Given the description of an element on the screen output the (x, y) to click on. 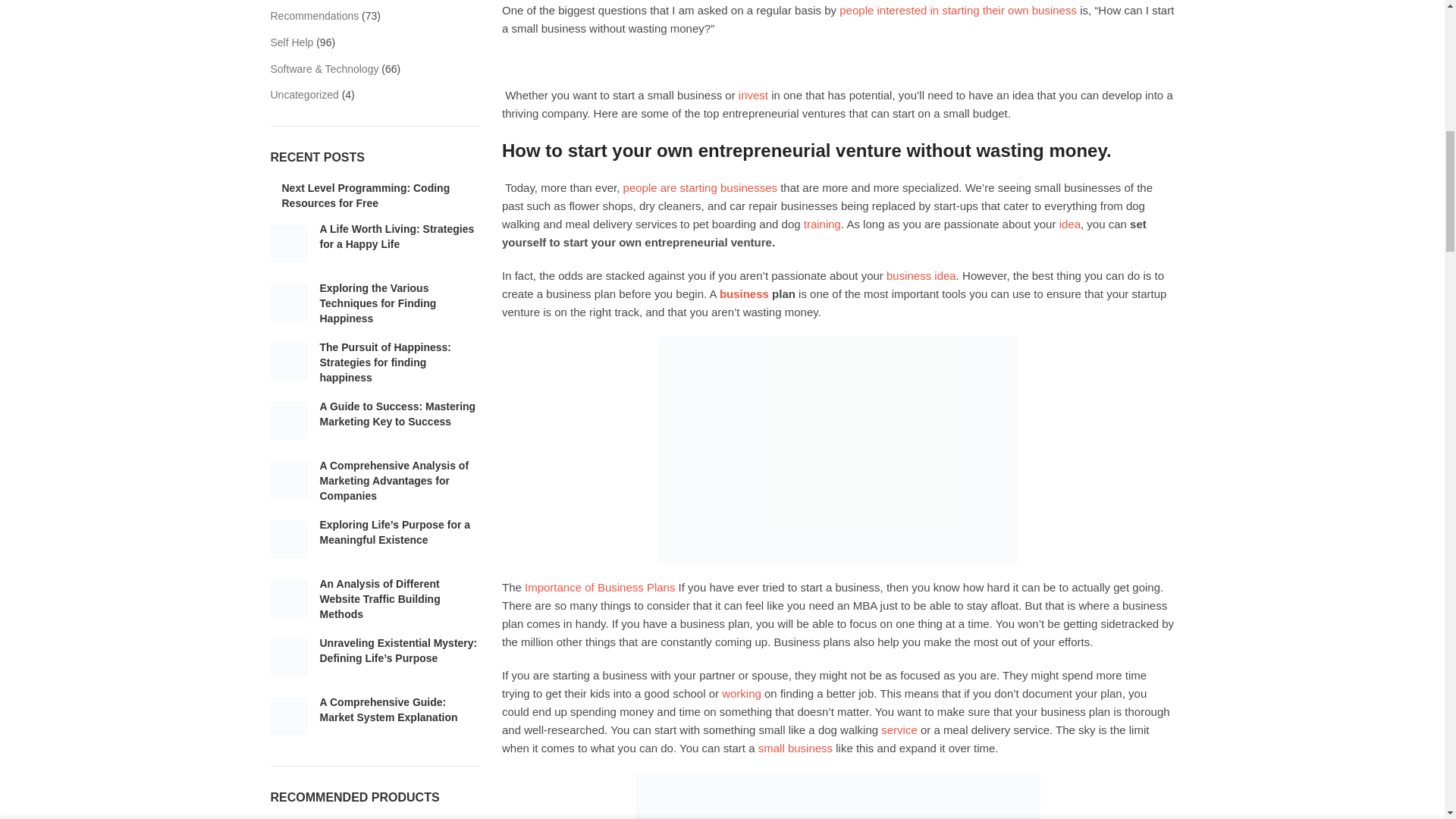
business idea (921, 275)
small business (795, 748)
service (898, 729)
Importance of Business Plans (599, 586)
idea (1069, 223)
business (743, 293)
invest (753, 94)
people interested in starting their own business (958, 10)
About (1069, 223)
people are starting businesses (700, 187)
working (741, 693)
training (822, 223)
Leadership training (822, 223)
